Given the description of an element on the screen output the (x, y) to click on. 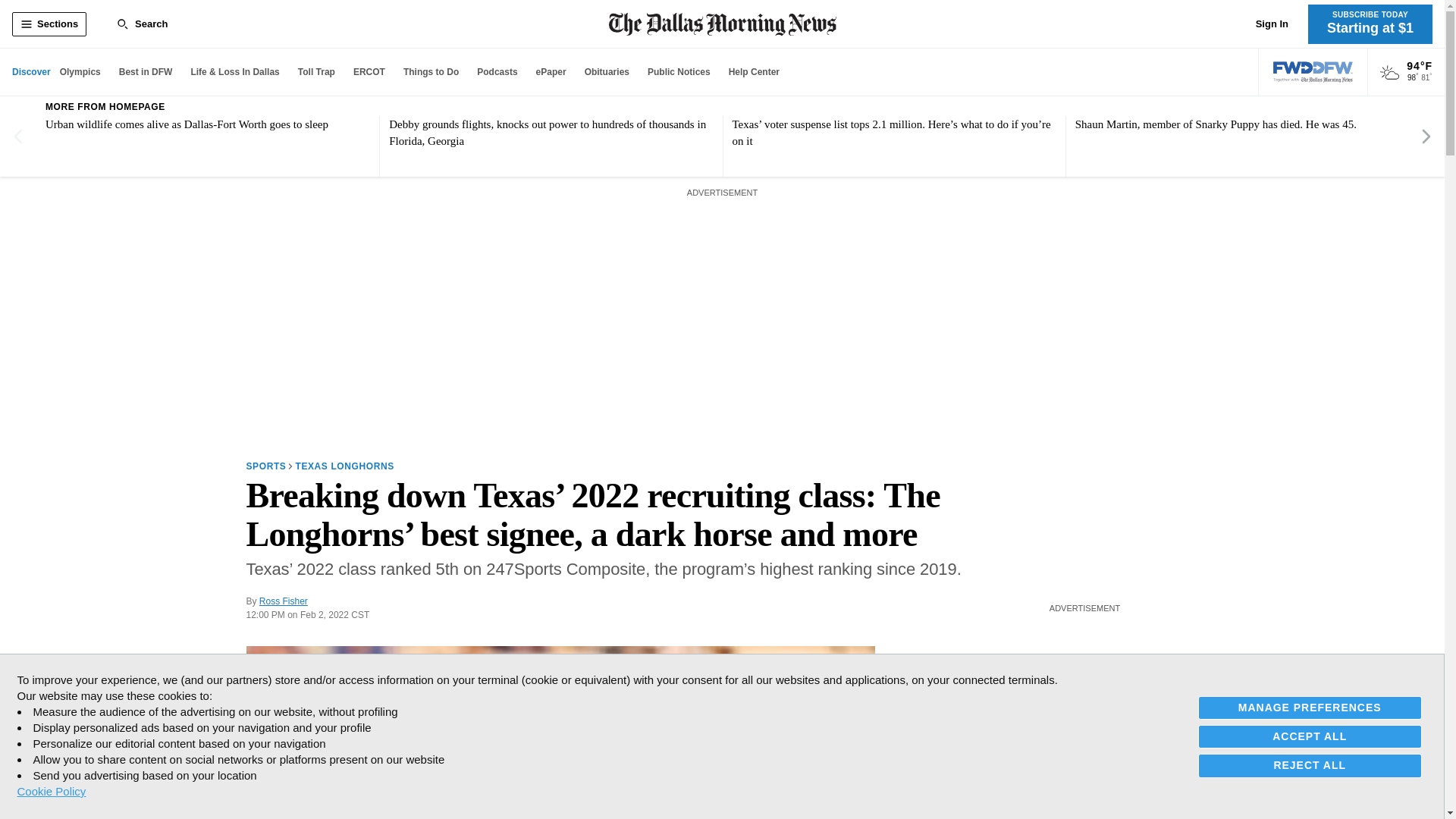
MANAGE PREFERENCES (1310, 707)
Few clouds (1389, 72)
ACCEPT ALL (1310, 736)
REJECT ALL (1310, 765)
Cookie Policy (50, 790)
FWD DFW, Together with The Dallas Morning News (1313, 72)
